Given the description of an element on the screen output the (x, y) to click on. 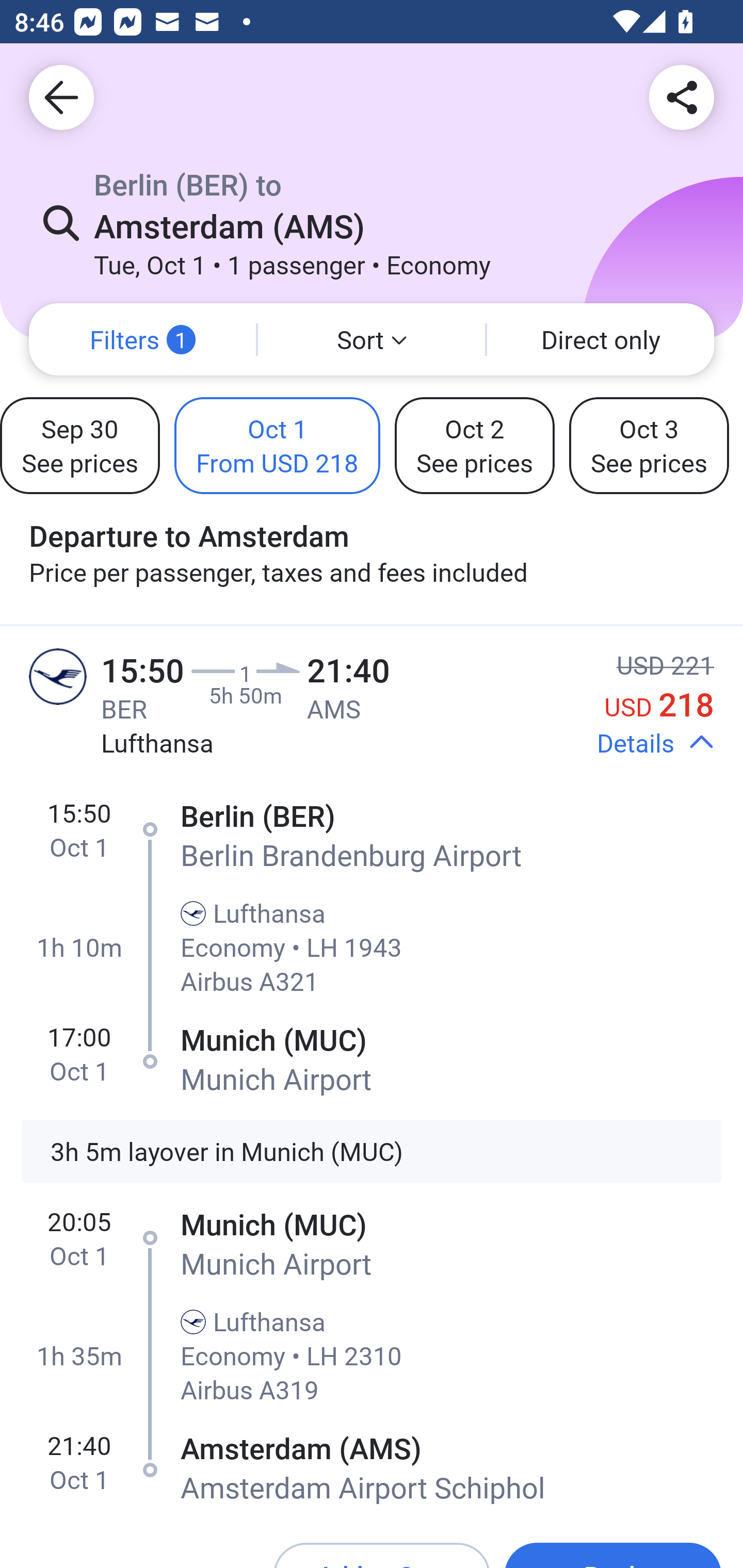
Filters 1 (141, 339)
Sort (371, 339)
Direct only (600, 339)
Sep 30 See prices (79, 444)
Oct 1 From USD 218 (277, 444)
Oct 2 See prices (474, 444)
Oct 3 See prices (648, 444)
